Given the description of an element on the screen output the (x, y) to click on. 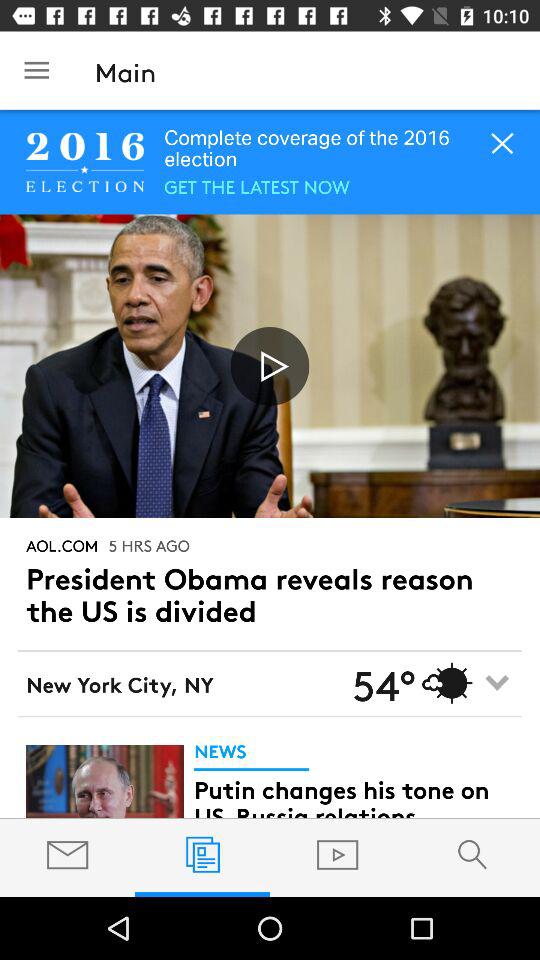
play page (269, 366)
